Given the description of an element on the screen output the (x, y) to click on. 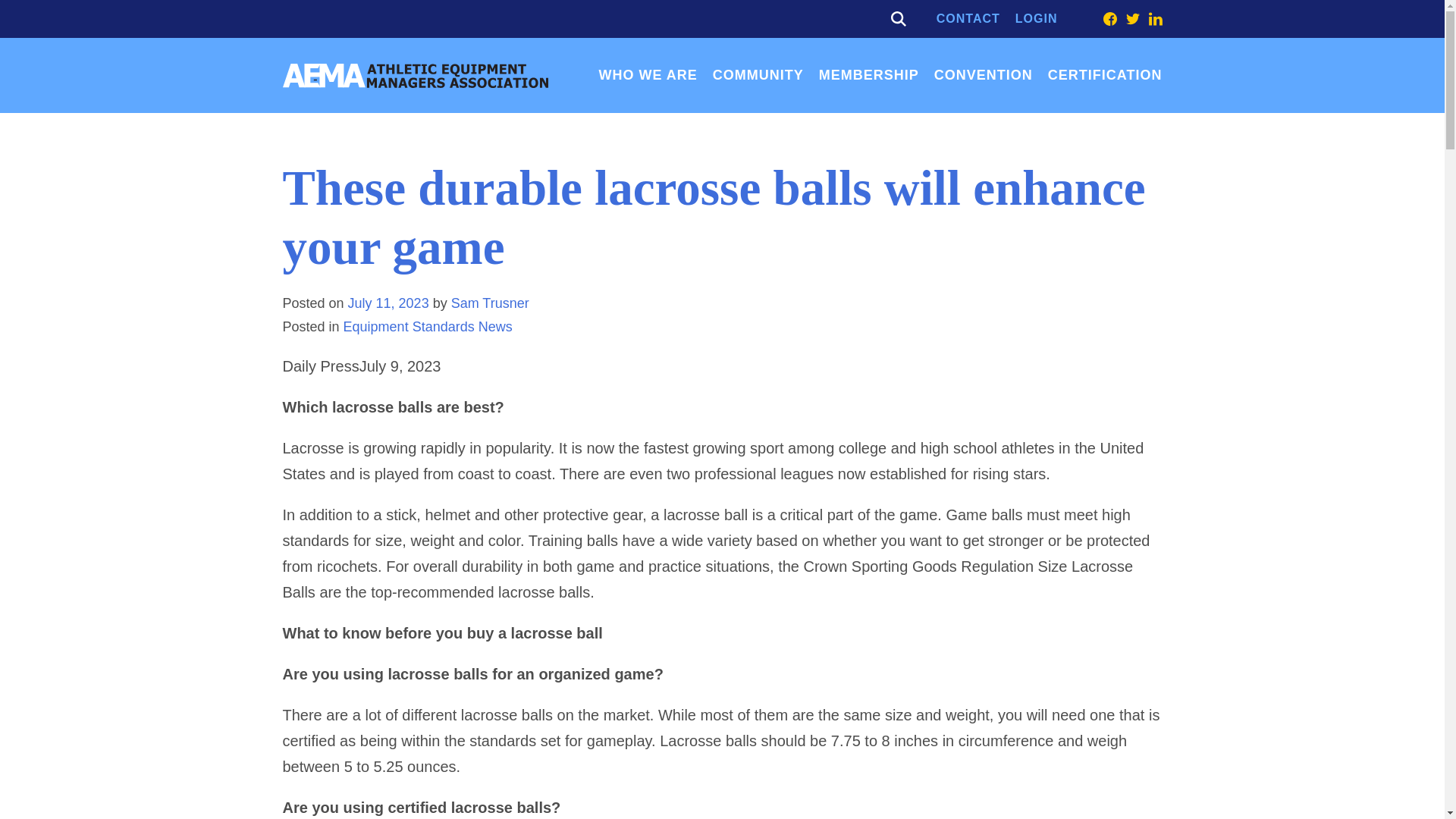
CONTACT (968, 18)
CERTIFICATION (1104, 74)
FACEBOOK (1109, 18)
COMMUNITY (758, 74)
WHO WE ARE (647, 74)
MEMBERSHIP (868, 74)
LOGIN (1036, 18)
CONVENTION (983, 74)
Athletic Equipment Managers Association (414, 75)
TWITTER (1131, 18)
